Given the description of an element on the screen output the (x, y) to click on. 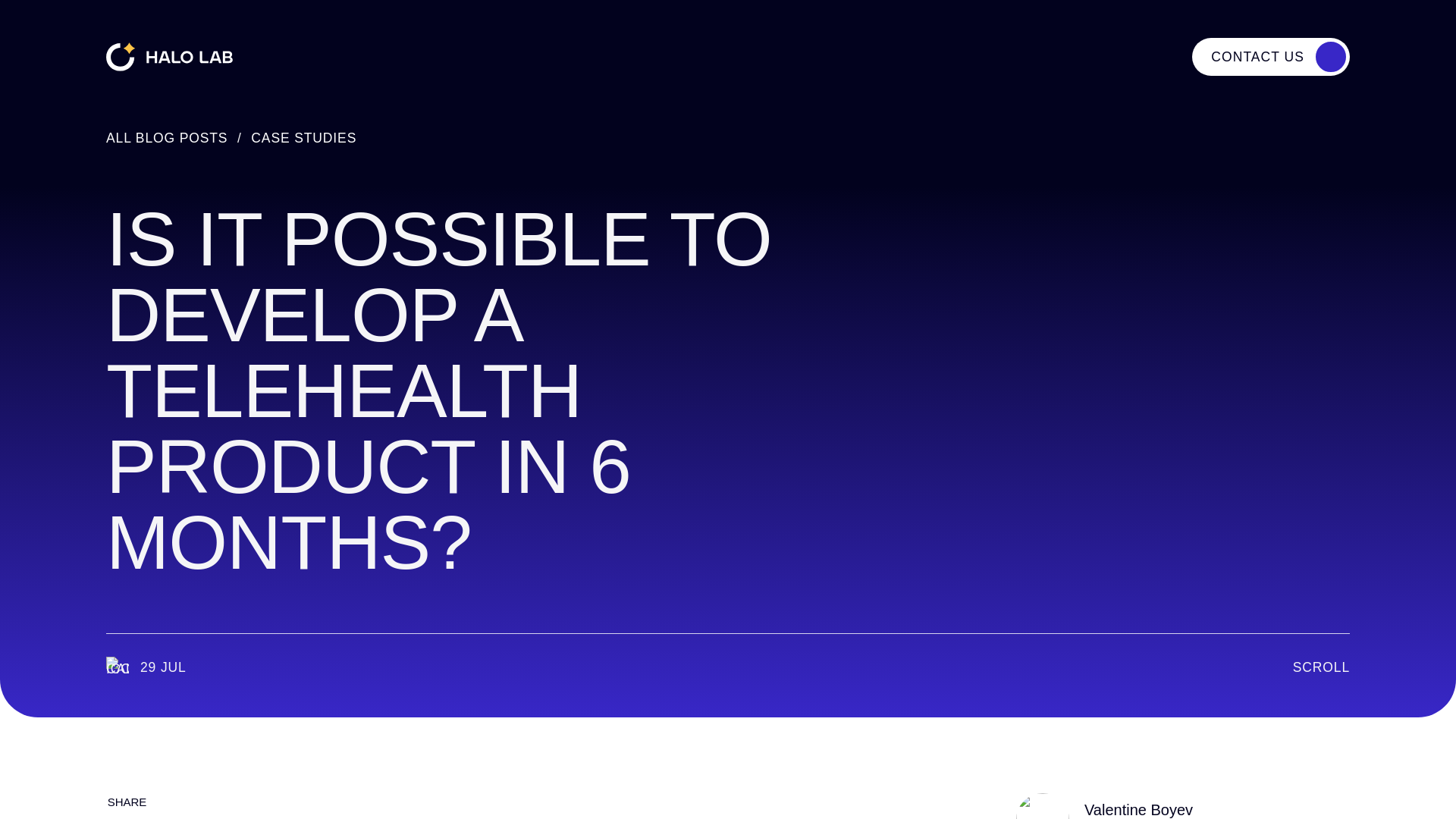
ALL BLOG POSTS (166, 138)
SCROLL (1304, 667)
CASE STUDIES (1104, 806)
CONTACT US (303, 138)
SCROLL (1270, 56)
